Given the description of an element on the screen output the (x, y) to click on. 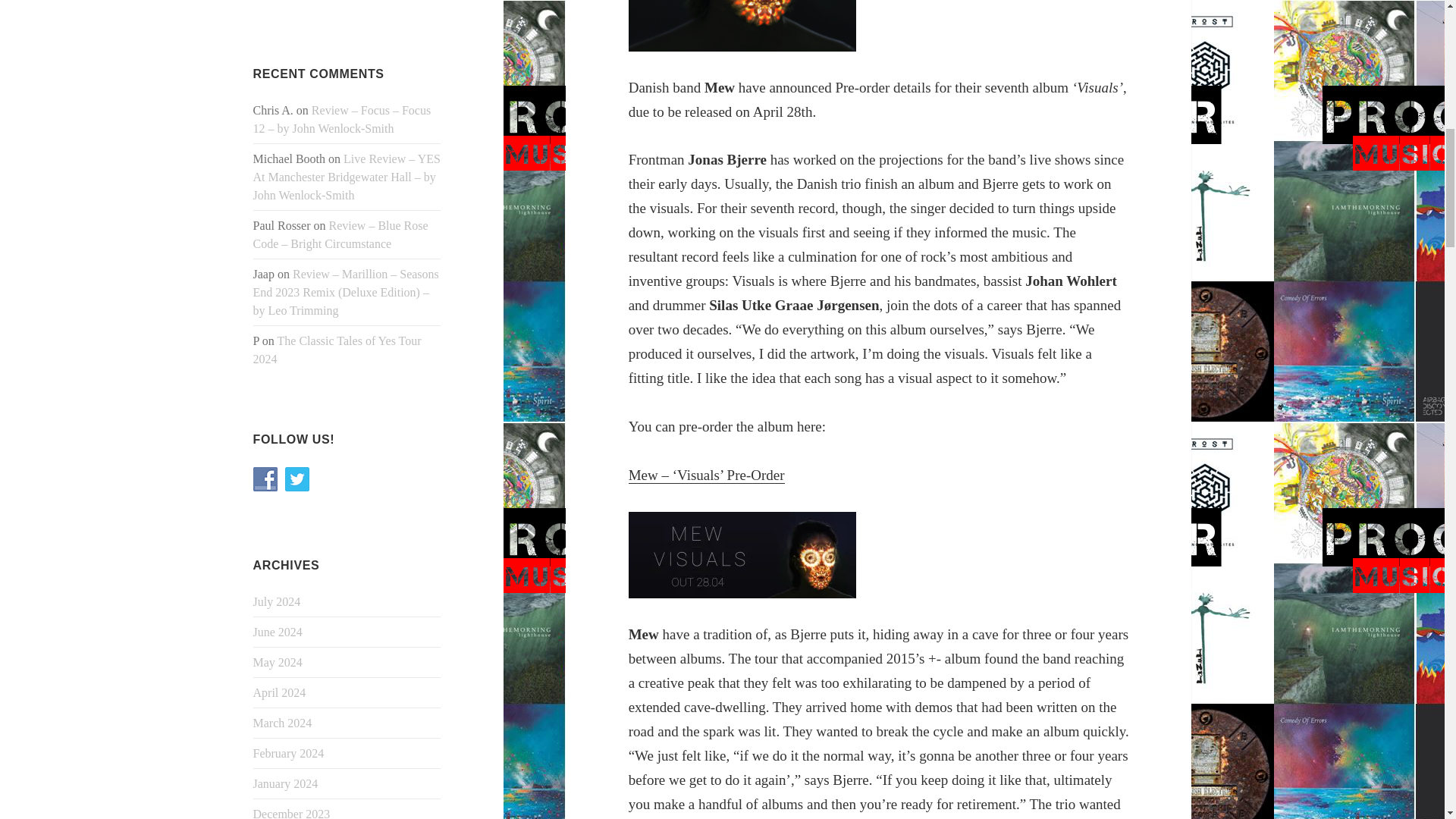
Twitter DTVoicesUK (296, 478)
January 2024 (285, 783)
February 2024 (288, 753)
December 2023 (291, 813)
March 2024 (283, 722)
May 2024 (277, 662)
Facebook Progradar (265, 478)
July 2024 (277, 601)
The Classic Tales of Yes Tour 2024 (337, 349)
April 2024 (279, 692)
June 2024 (277, 631)
